Given the description of an element on the screen output the (x, y) to click on. 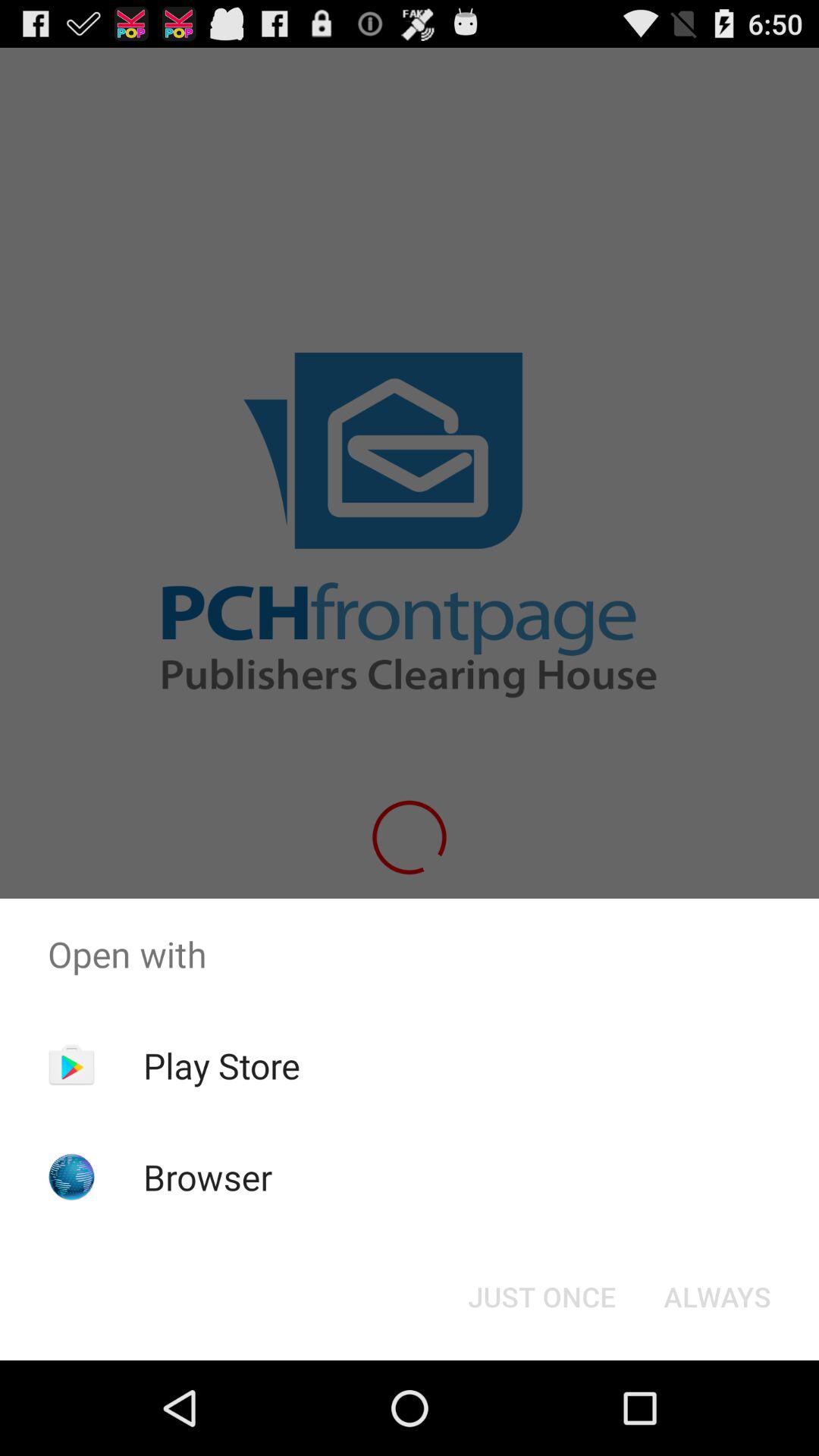
open button at the bottom (541, 1296)
